Given the description of an element on the screen output the (x, y) to click on. 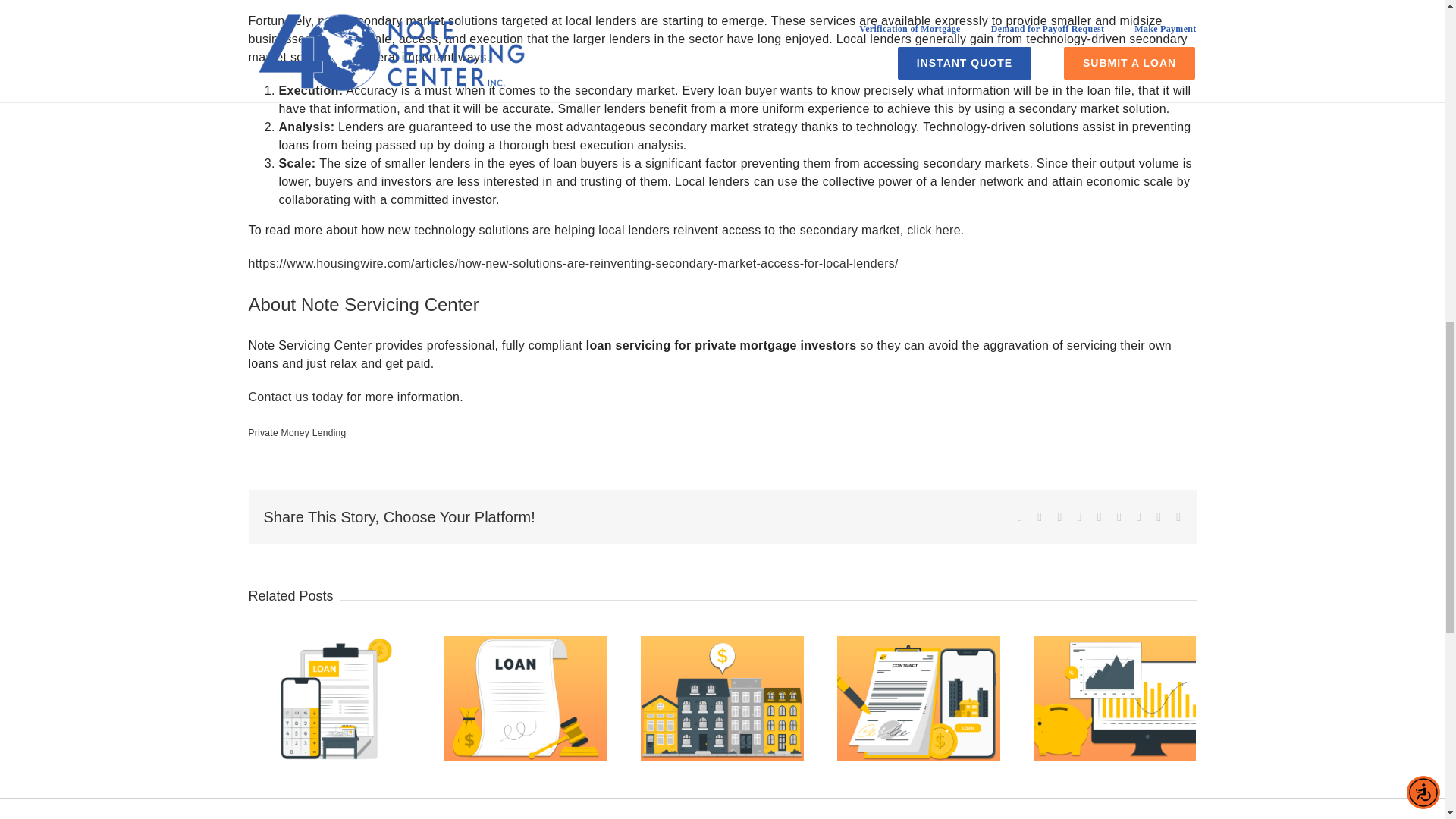
Reddit (1059, 517)
Vk (1158, 517)
Contact us today (295, 396)
Facebook (1019, 517)
X (1039, 517)
WhatsApp (1099, 517)
here (948, 229)
Pinterest (1139, 517)
LinkedIn (1079, 517)
Tumblr (1118, 517)
Private Money Lending (297, 432)
Email (1178, 517)
